Given the description of an element on the screen output the (x, y) to click on. 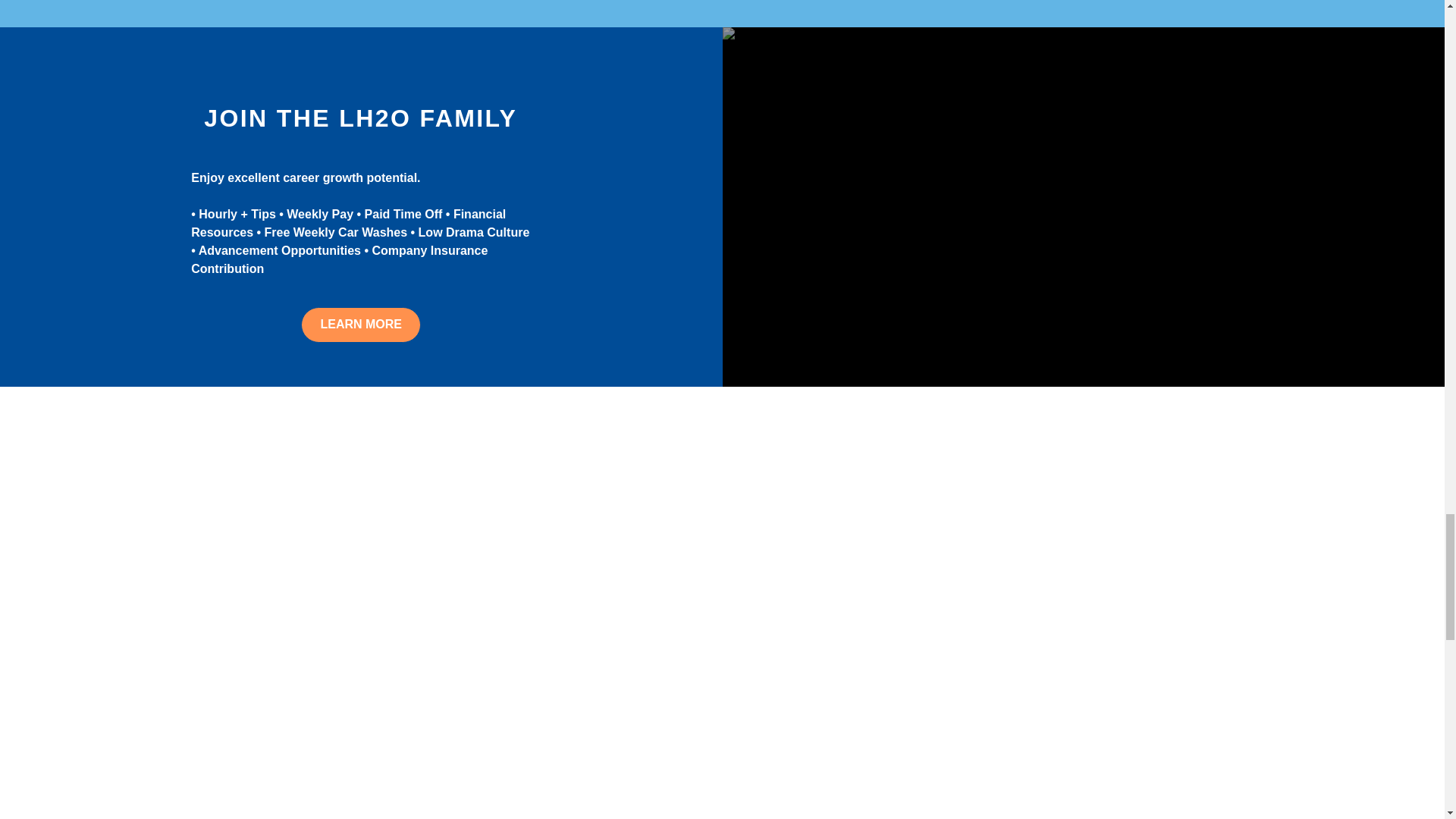
LEARN MORE (360, 325)
